Given the description of an element on the screen output the (x, y) to click on. 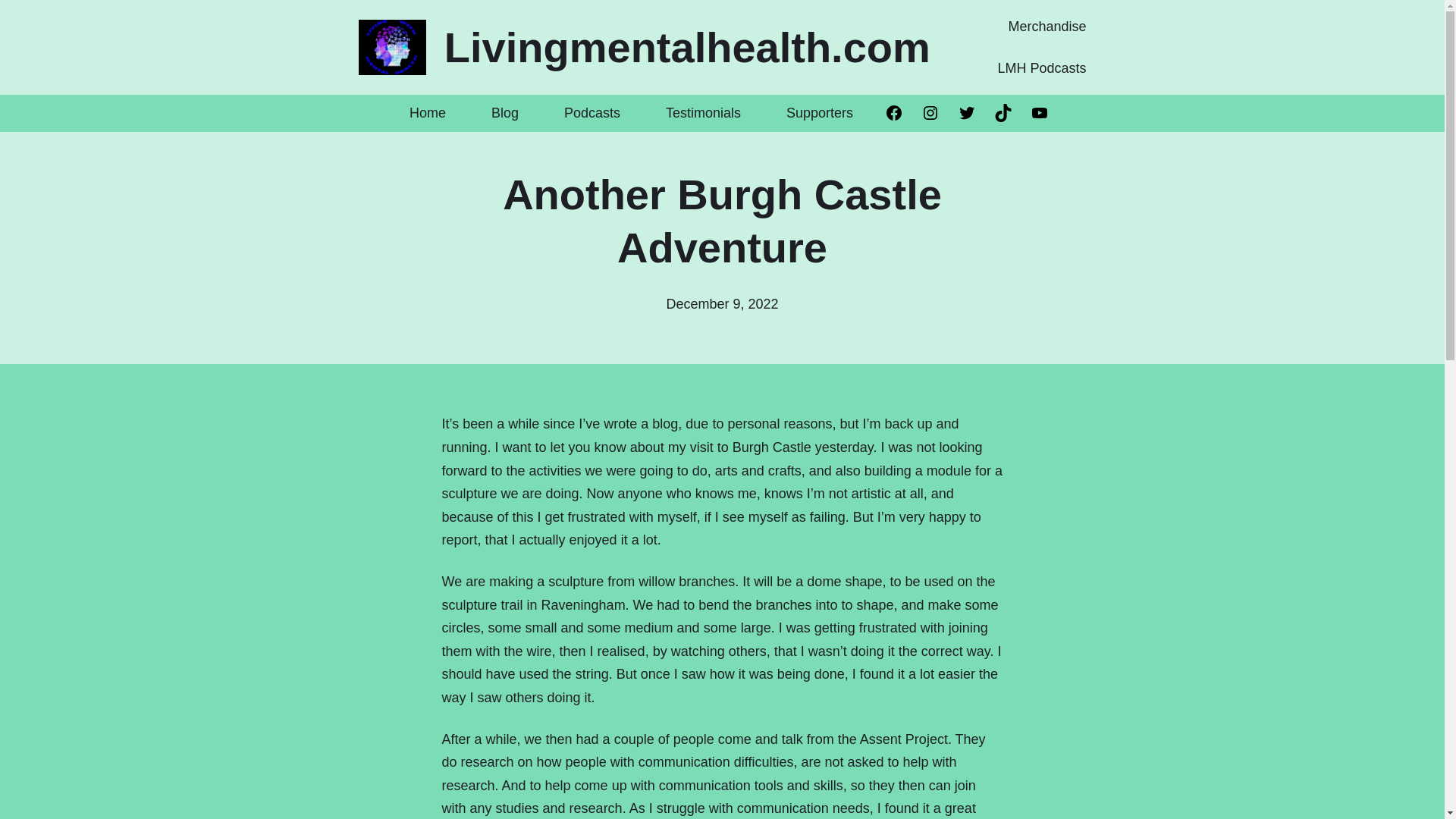
LMH Podcasts (1041, 68)
Home (428, 113)
Merchandise (1046, 26)
Instagram (930, 113)
Facebook (893, 113)
Testimonials (703, 113)
Blog (504, 113)
TikTok (1002, 113)
Livingmentalhealth.com (687, 47)
Twitter (966, 113)
